Given the description of an element on the screen output the (x, y) to click on. 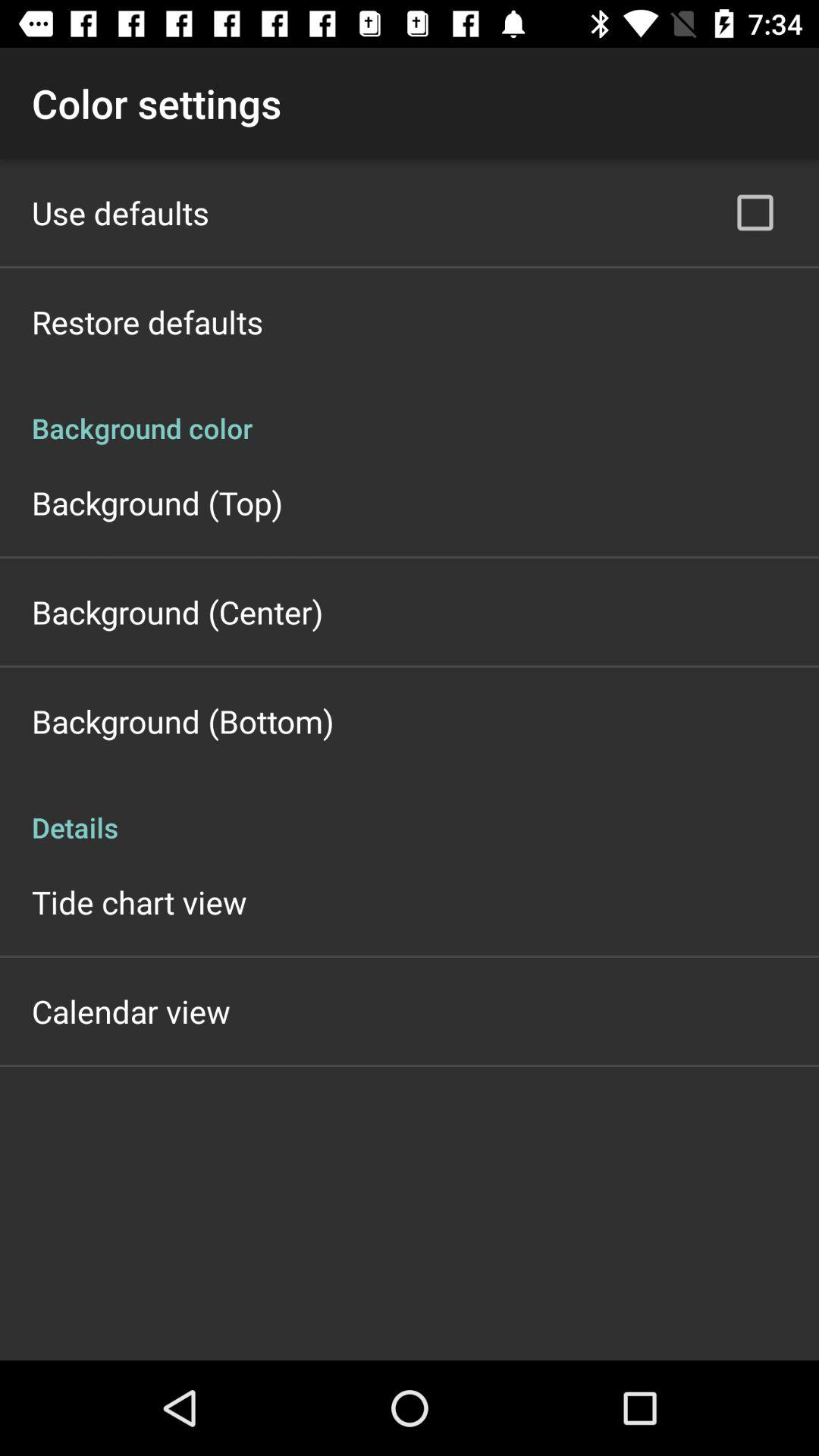
flip until the background color icon (409, 412)
